Given the description of an element on the screen output the (x, y) to click on. 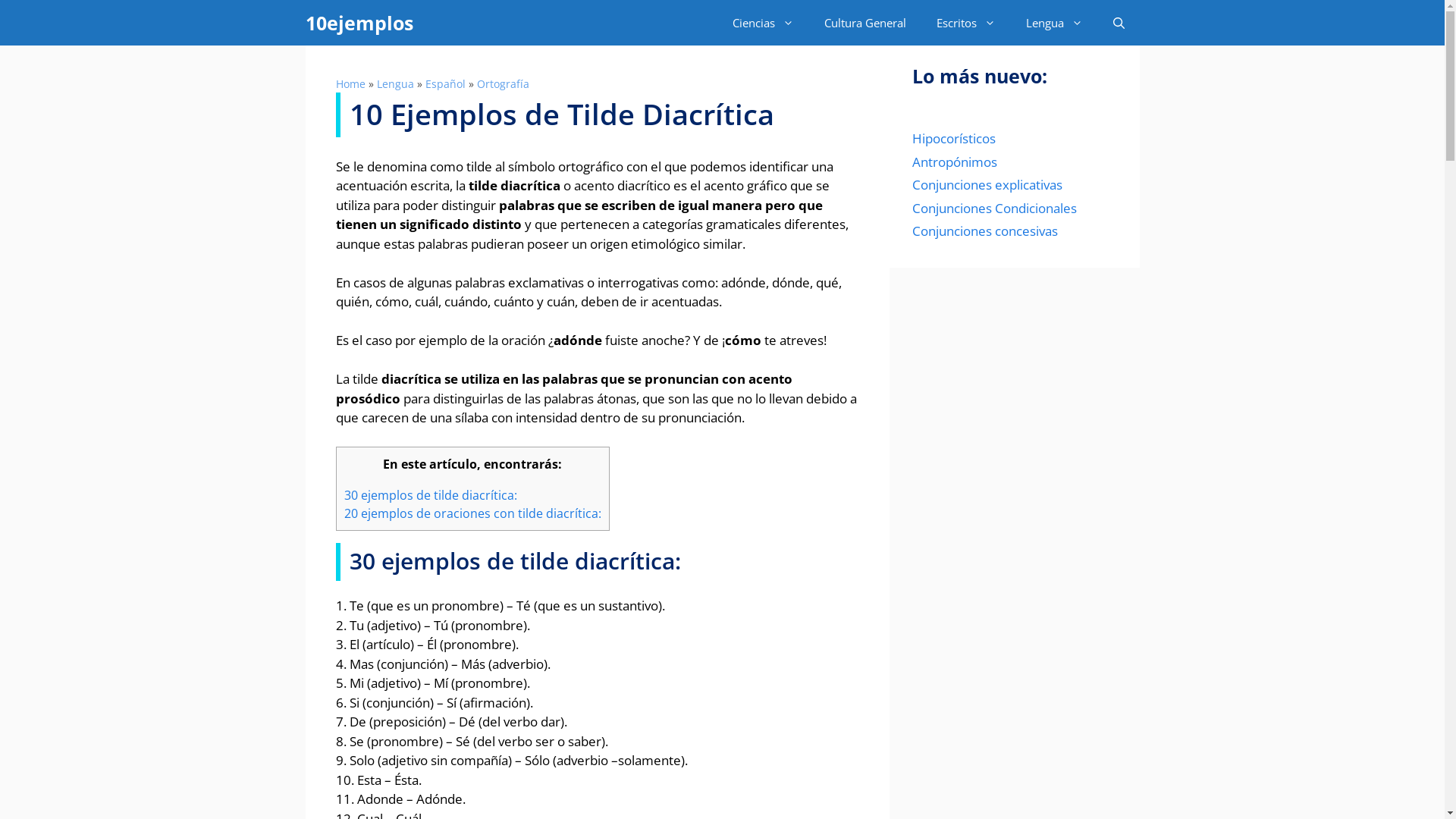
10ejemplos Element type: text (358, 22)
Conjunciones explicativas Element type: text (986, 184)
Lengua Element type: text (1053, 22)
Lengua Element type: text (394, 83)
Conjunciones Condicionales Element type: text (993, 207)
Escritos Element type: text (965, 22)
Conjunciones concesivas Element type: text (984, 230)
Cultura General Element type: text (864, 22)
Ciencias Element type: text (763, 22)
Home Element type: text (349, 83)
